Given the description of an element on the screen output the (x, y) to click on. 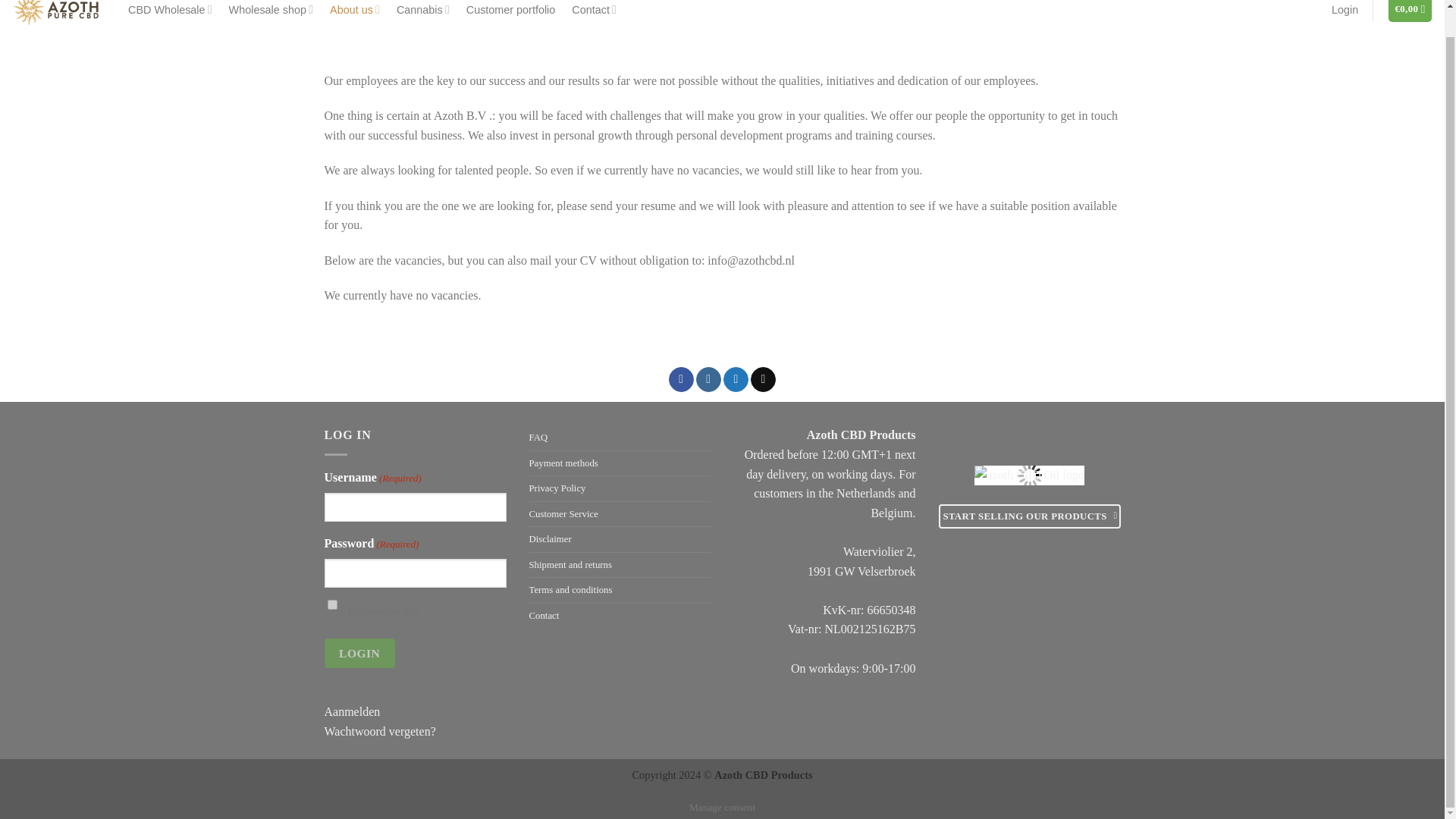
Login (1345, 12)
Cart (1410, 11)
Login (1345, 12)
Login (359, 653)
Payment methods (563, 463)
CBD Groothandel (170, 12)
Wholesale shop (270, 12)
Aanmelden (352, 711)
Cannabis (422, 12)
Cannabidiol (422, 12)
Contact (593, 12)
1 (332, 604)
Contact (593, 12)
Customer portfolio (510, 12)
Login (359, 653)
